Given the description of an element on the screen output the (x, y) to click on. 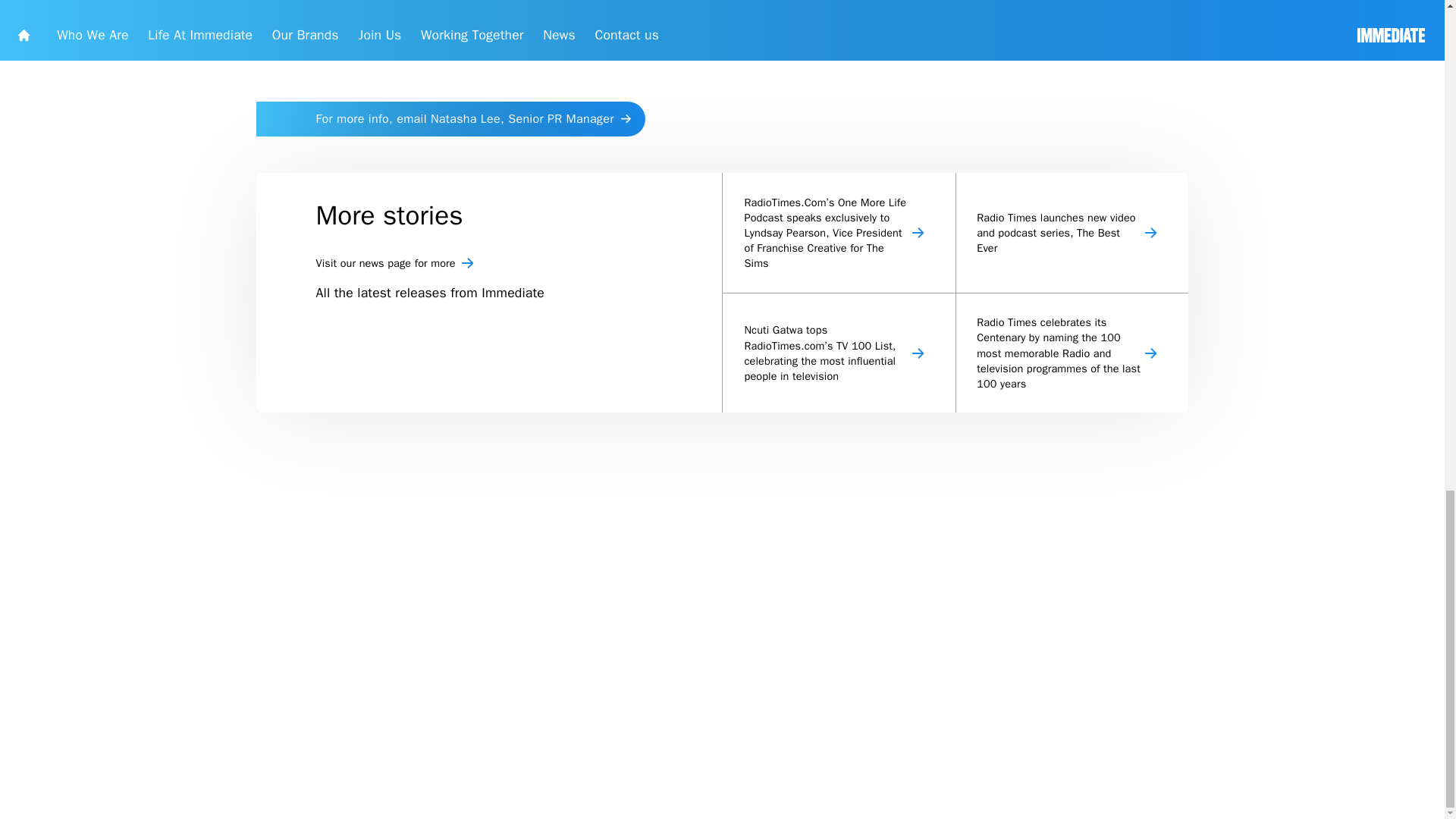
Visit our news page for more (625, 638)
For more info, email Natasha Lee, Senior PR Manager (563, 457)
RadioTimes.com (739, 354)
